Given the description of an element on the screen output the (x, y) to click on. 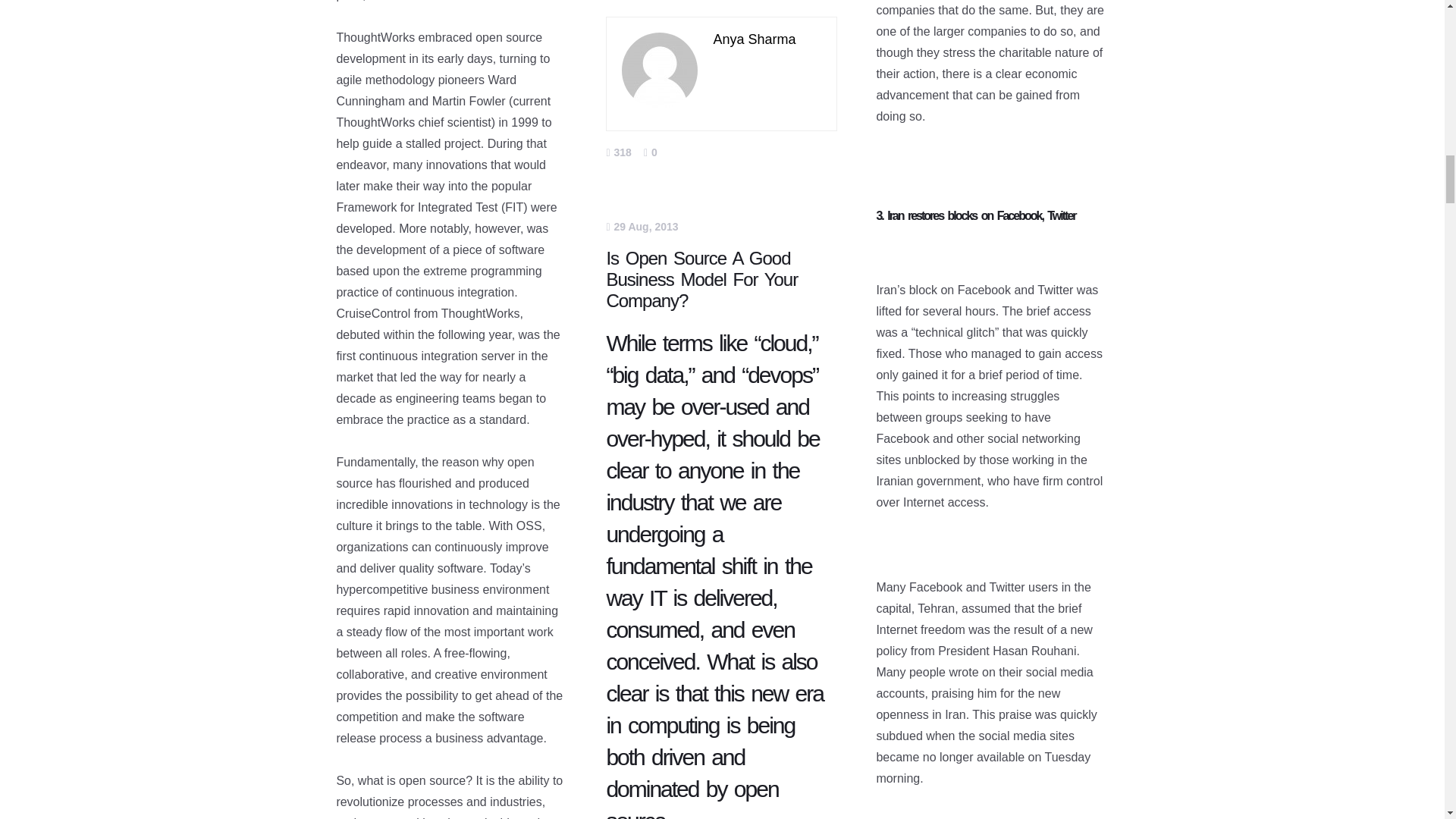
29 Aug, 2013 (641, 226)
Is Open Source A Good Business Model For Your Company? (701, 279)
Anya Sharma (753, 38)
